Given the description of an element on the screen output the (x, y) to click on. 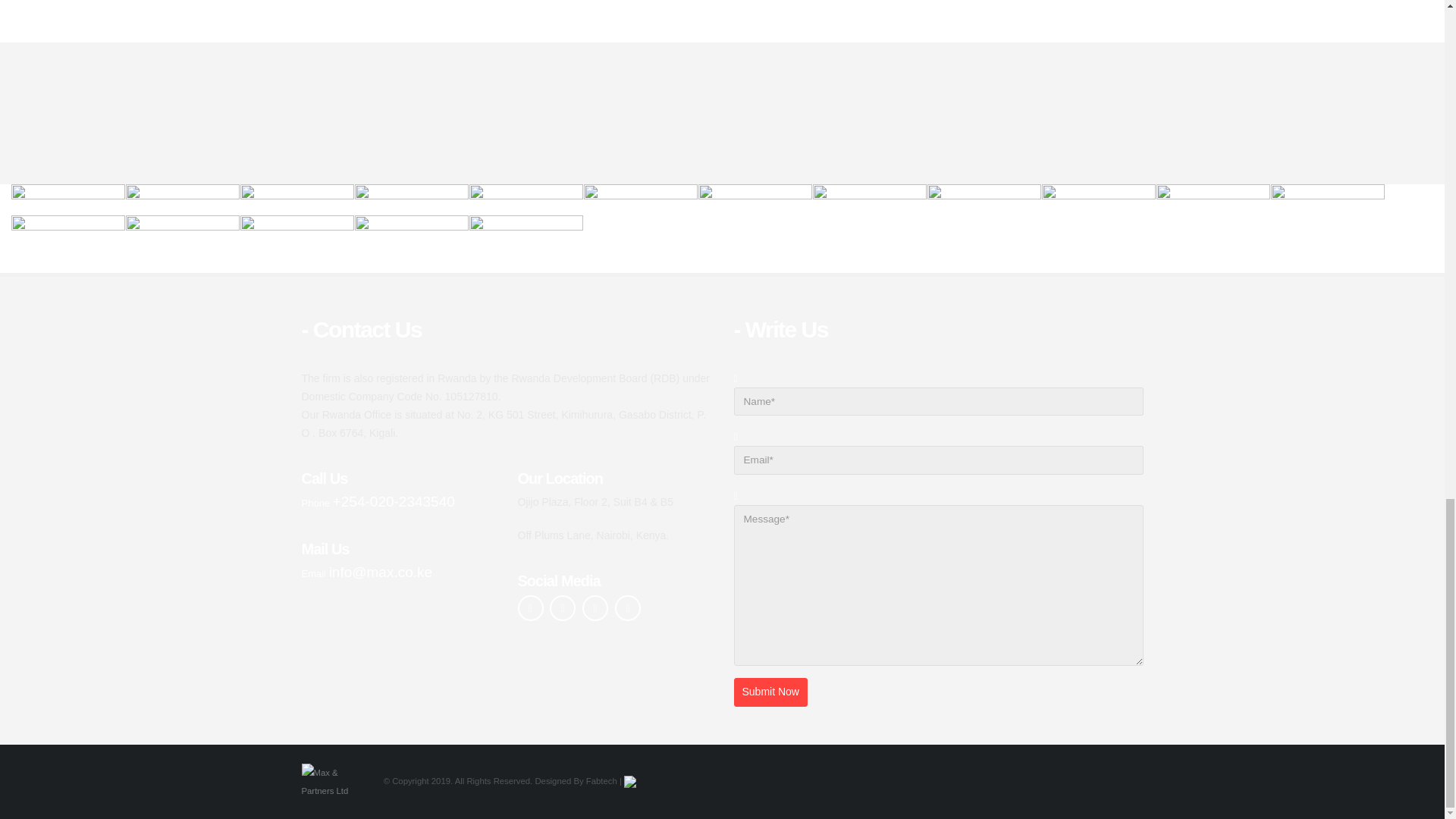
Submit Now (770, 692)
Call Us (377, 502)
Call Us (366, 573)
